Given the description of an element on the screen output the (x, y) to click on. 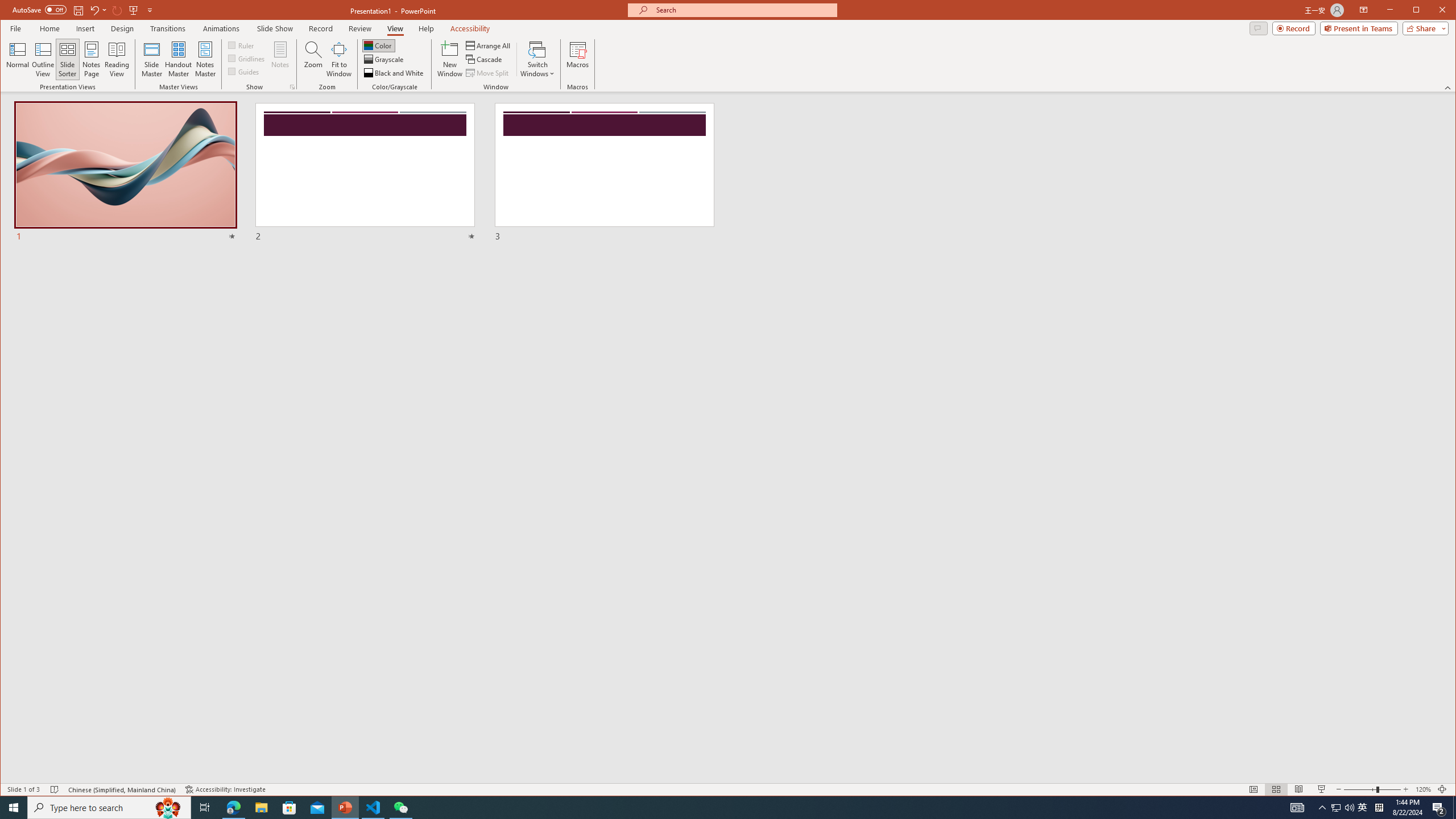
Move Split (488, 72)
Zoom... (312, 59)
Cascade (484, 59)
Arrange All (488, 45)
Notes (279, 59)
